Given the description of an element on the screen output the (x, y) to click on. 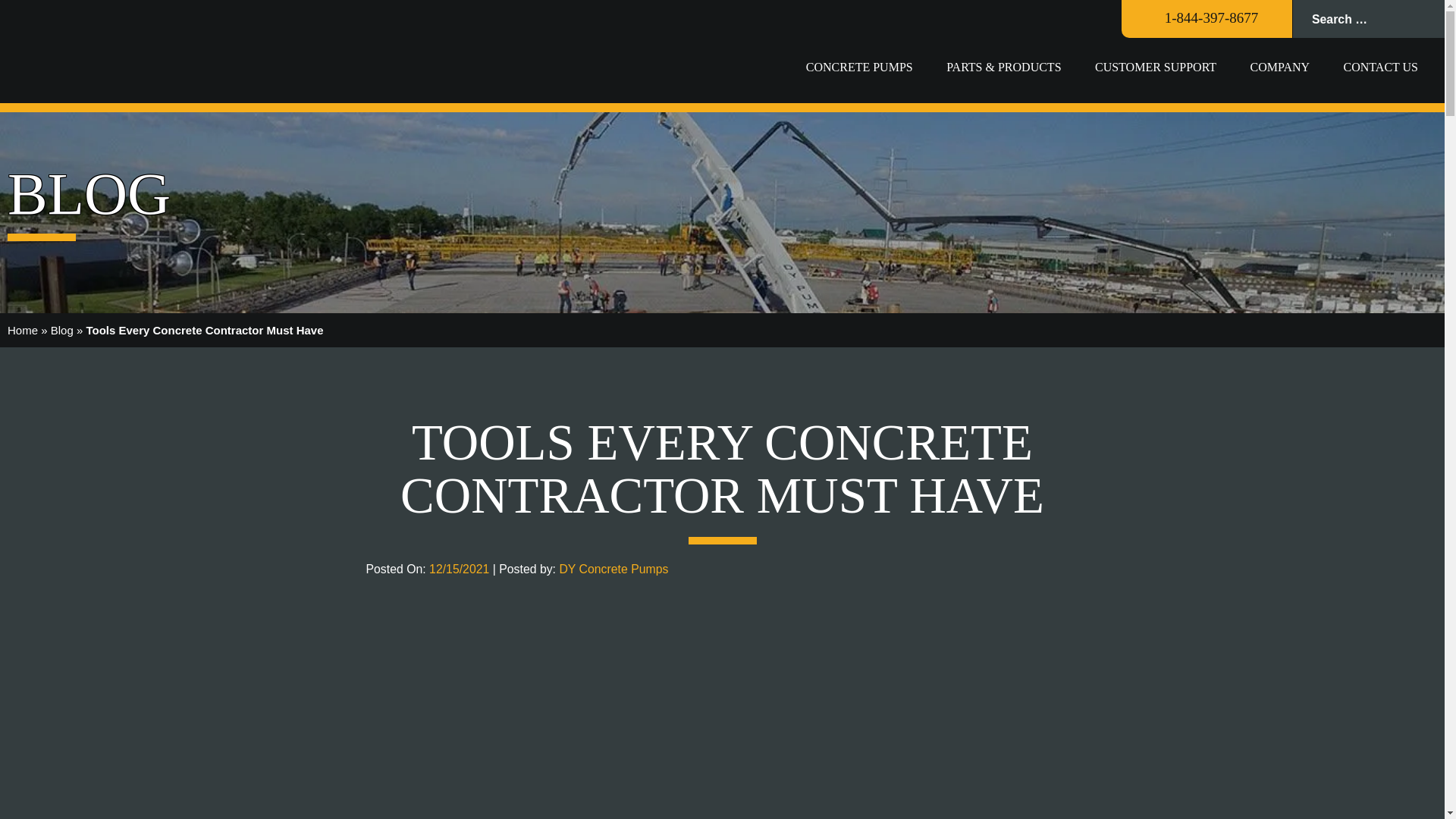
1-844-397-8677 (1204, 17)
Search (1426, 18)
Search (1426, 18)
Search (1426, 18)
